Given the description of an element on the screen output the (x, y) to click on. 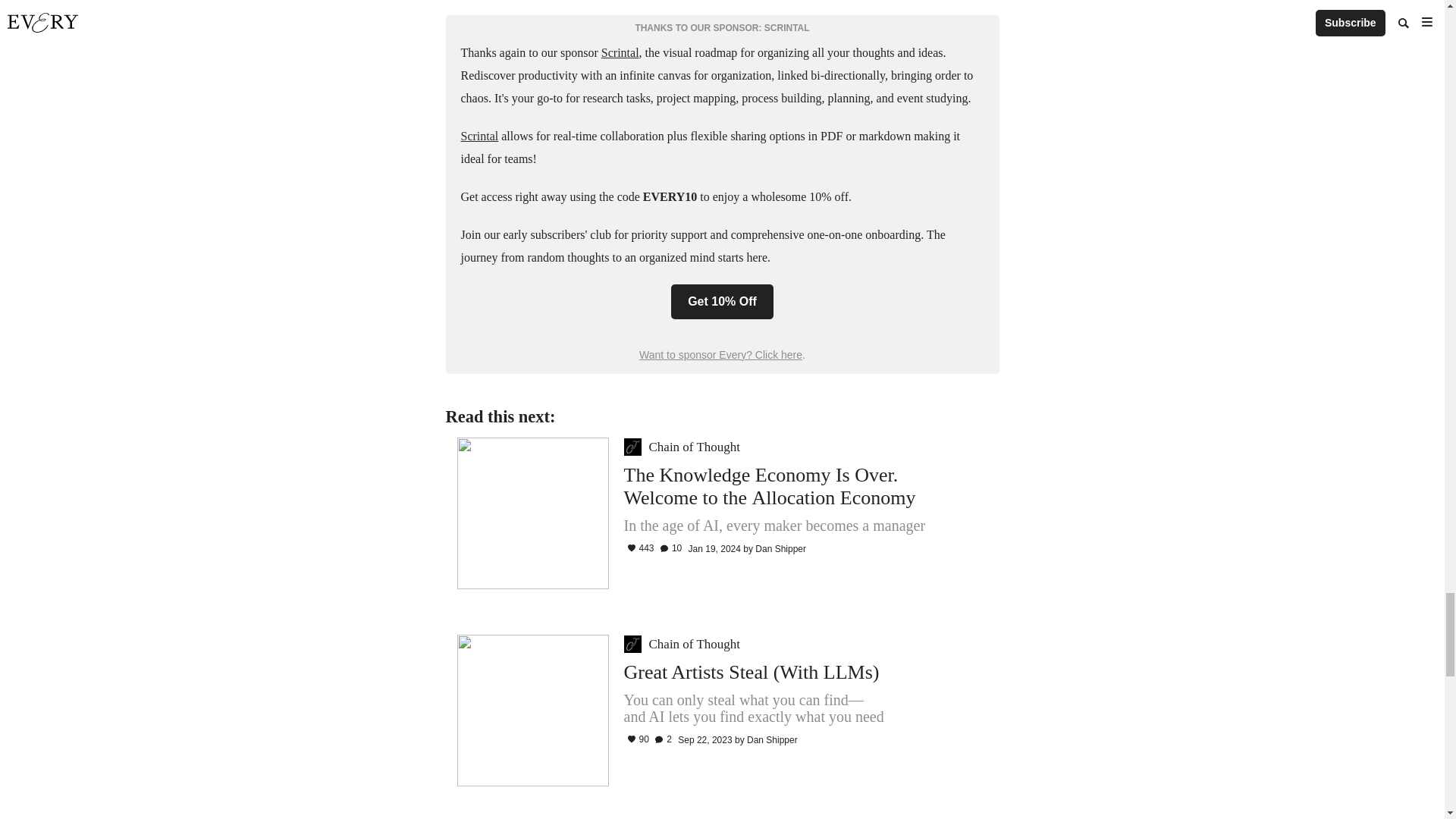
Want to sponsor Every? Click here (720, 354)
Scrintal (480, 135)
Scrintal (620, 51)
